Given the description of an element on the screen output the (x, y) to click on. 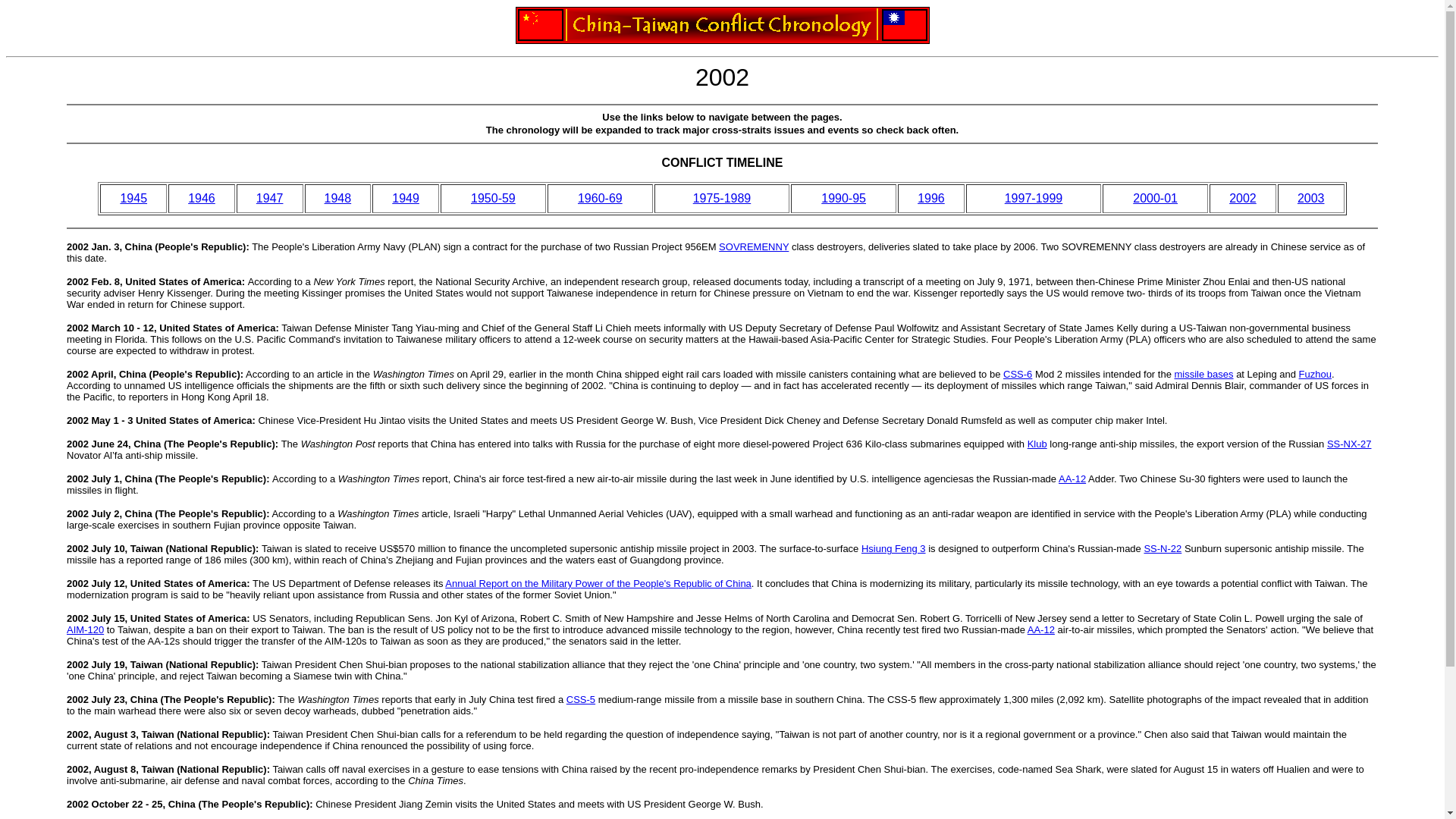
1948 (338, 197)
1947 (269, 197)
2003 (1310, 197)
SOVREMENNY (754, 246)
AA-12 (1072, 478)
missile bases (1203, 374)
1997-1999 (1033, 197)
1996 (930, 197)
Fuzhou (1315, 374)
CSS-6 (1017, 374)
1946 (201, 197)
1950-59 (492, 197)
1975-1989 (722, 197)
2000-01 (1154, 197)
